Given the description of an element on the screen output the (x, y) to click on. 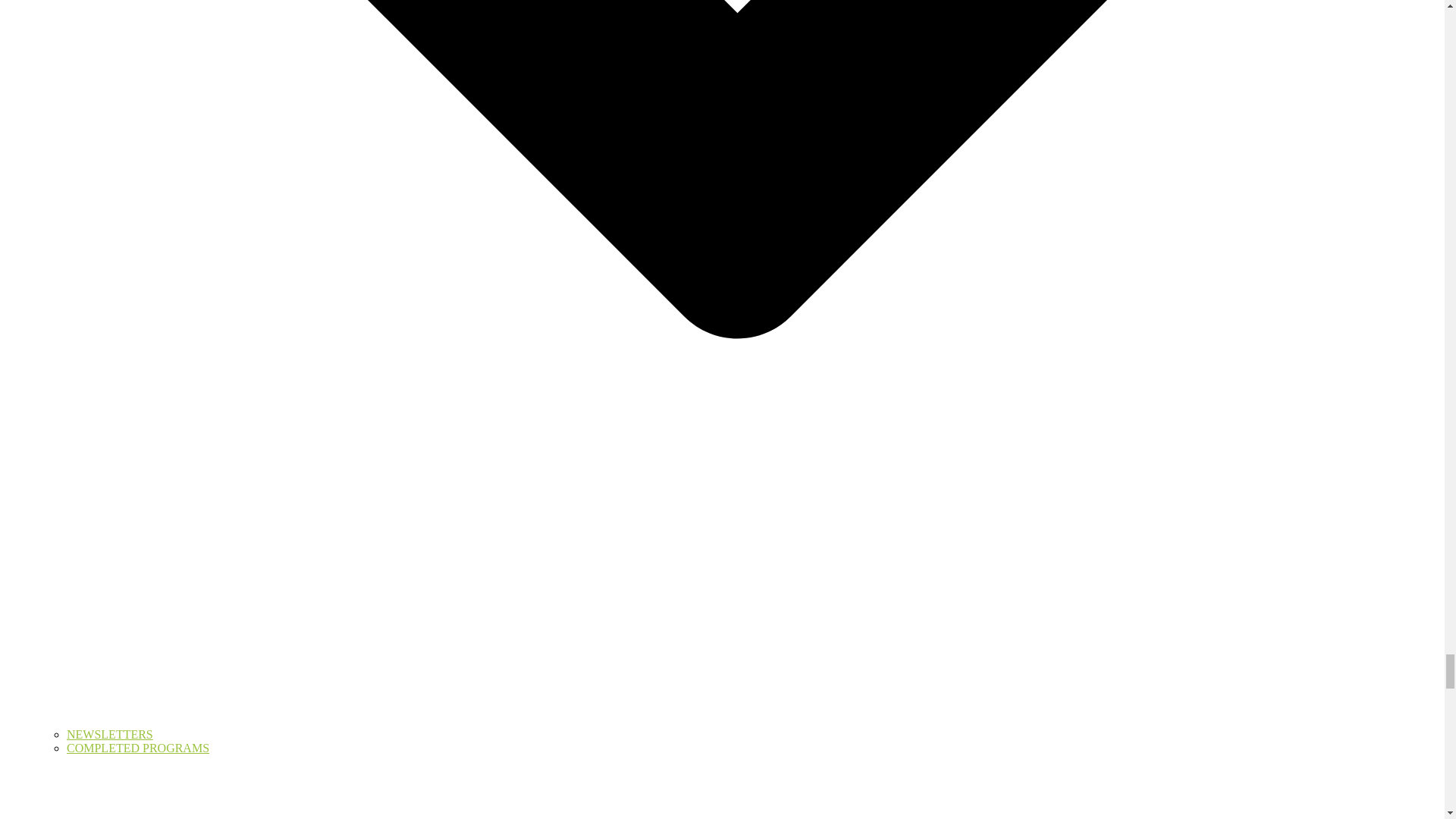
NEWSLETTERS (109, 734)
